Given the description of an element on the screen output the (x, y) to click on. 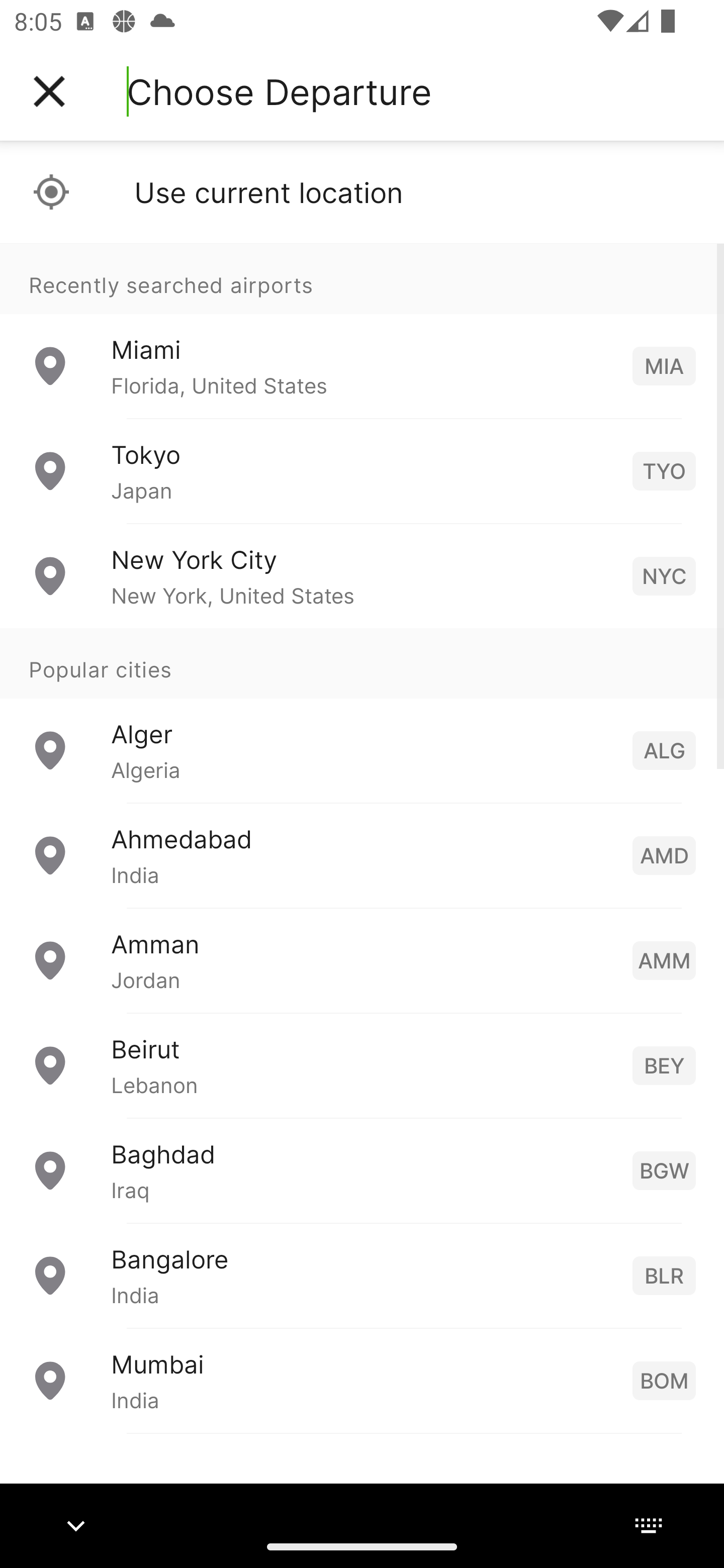
Choose Departure (279, 91)
Use current location (362, 192)
Recently searched airports (362, 278)
Tokyo Japan TYO (362, 470)
New York City New York, United States NYC (362, 575)
Popular cities Alger Algeria ALG (362, 715)
Popular cities (362, 663)
Ahmedabad India AMD (362, 854)
Amman Jordan AMM (362, 959)
Beirut Lebanon BEY (362, 1064)
Baghdad Iraq BGW (362, 1170)
Bangalore India BLR (362, 1275)
Mumbai India BOM (362, 1380)
